Given the description of an element on the screen output the (x, y) to click on. 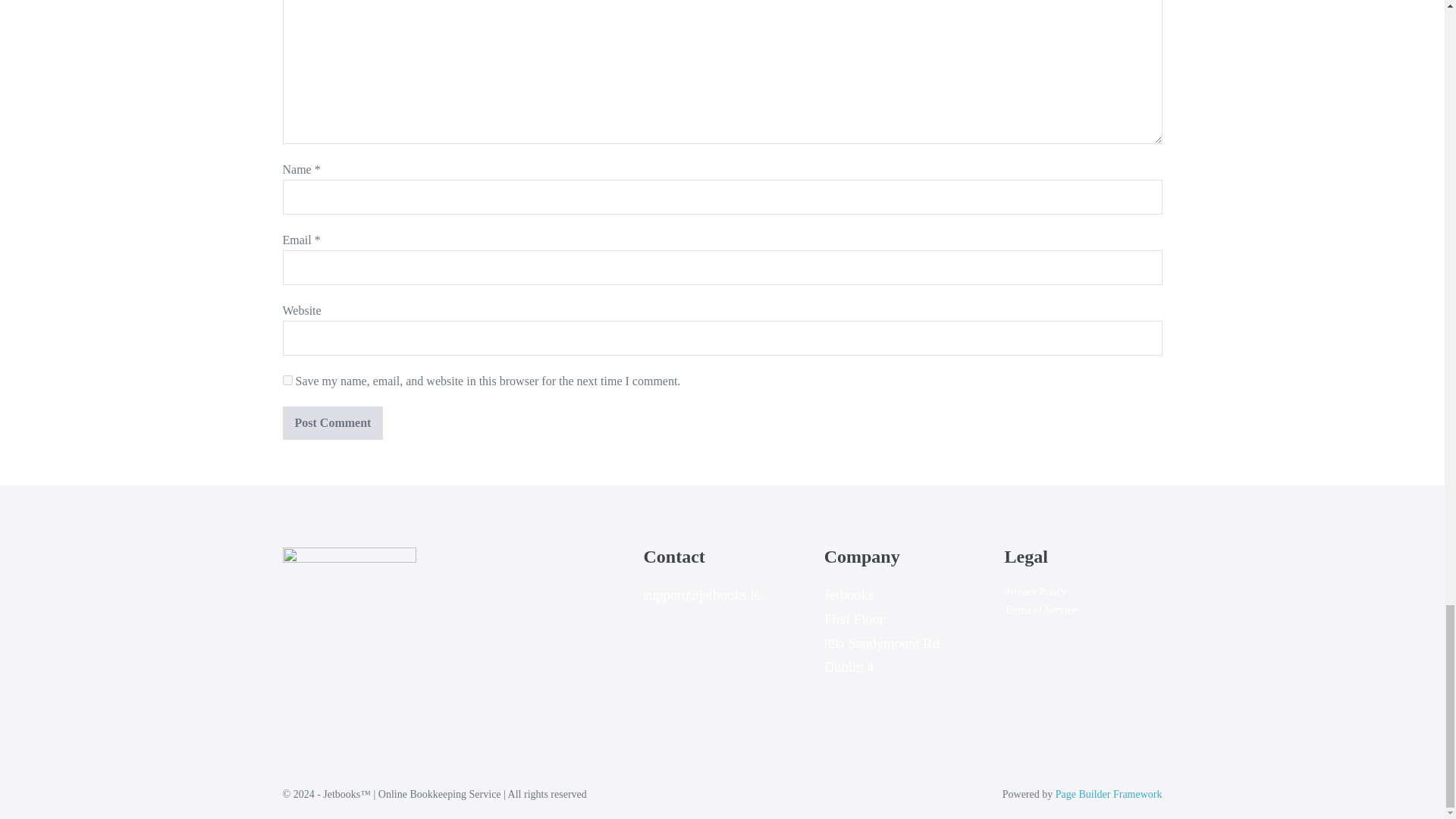
Privacy Policy (1035, 591)
Terms of Service (1040, 609)
Page Builder Framework (1108, 794)
yes (287, 379)
Post Comment (332, 422)
Post Comment (332, 422)
